Given the description of an element on the screen output the (x, y) to click on. 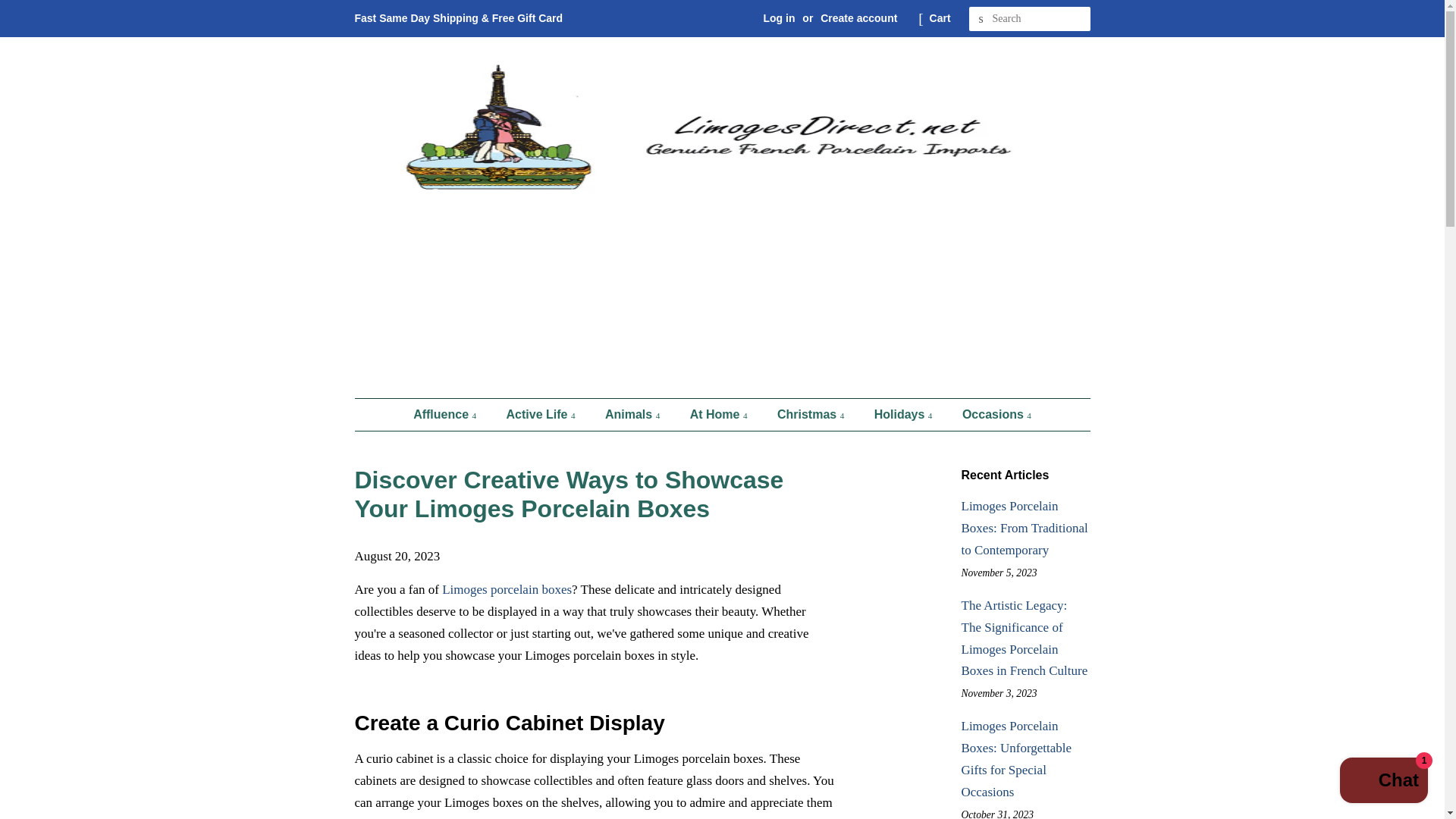
Create account (858, 18)
Log in (778, 18)
Limoges Boxes (507, 589)
Shopify online store chat (1383, 781)
Search (980, 18)
Cart (940, 18)
